Given the description of an element on the screen output the (x, y) to click on. 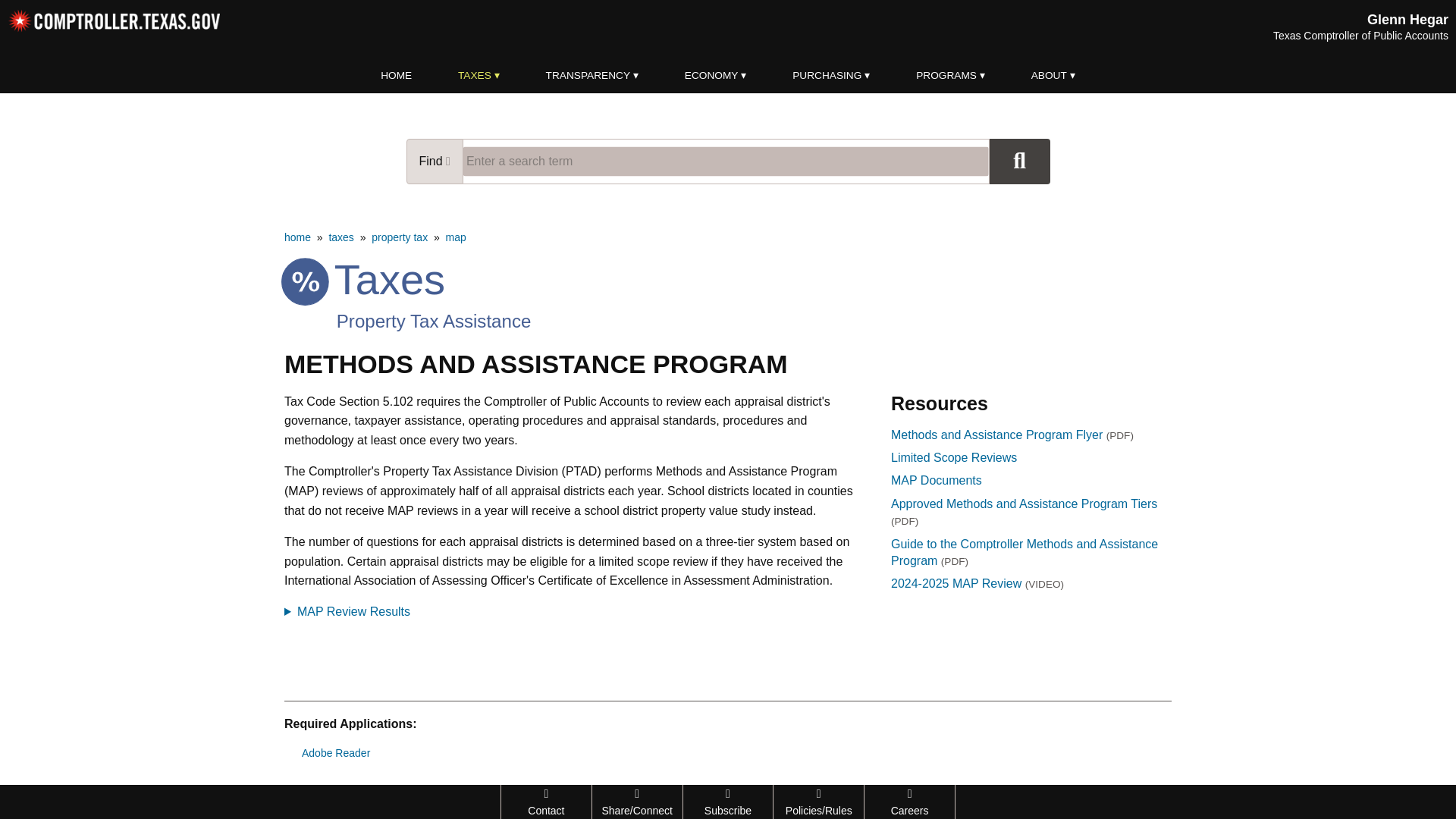
TAXES (478, 75)
taxes (341, 236)
property tax (399, 236)
map (455, 236)
home (297, 236)
HOME (396, 75)
